Given the description of an element on the screen output the (x, y) to click on. 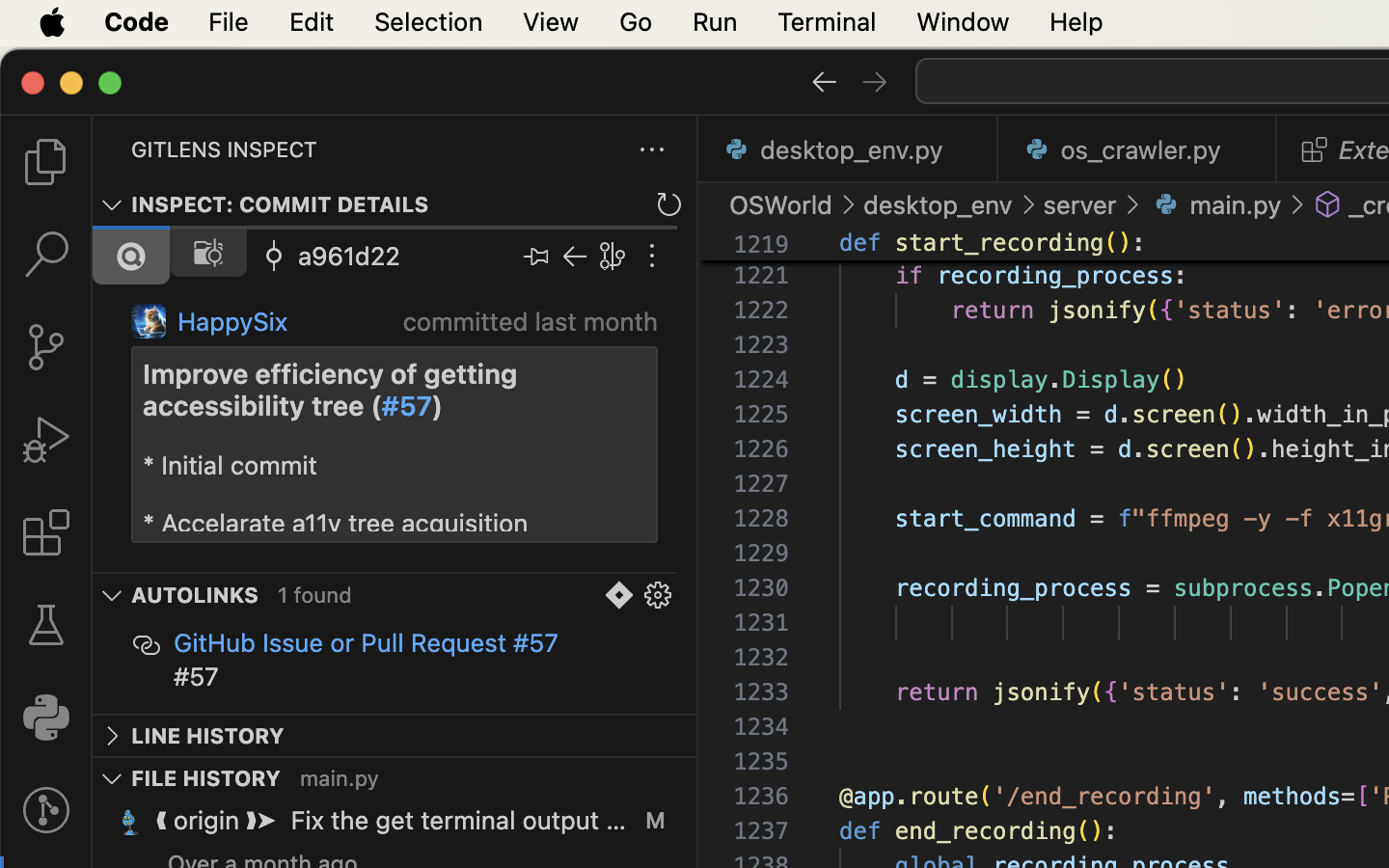
 Element type: AXStaticText (1314, 149)
0  Element type: AXRadioButton (46, 346)
 Element type: AXStaticText (130, 256)
0 desktop_env.py   Element type: AXRadioButton (848, 149)
 Element type: AXButton (669, 204)
